Given the description of an element on the screen output the (x, y) to click on. 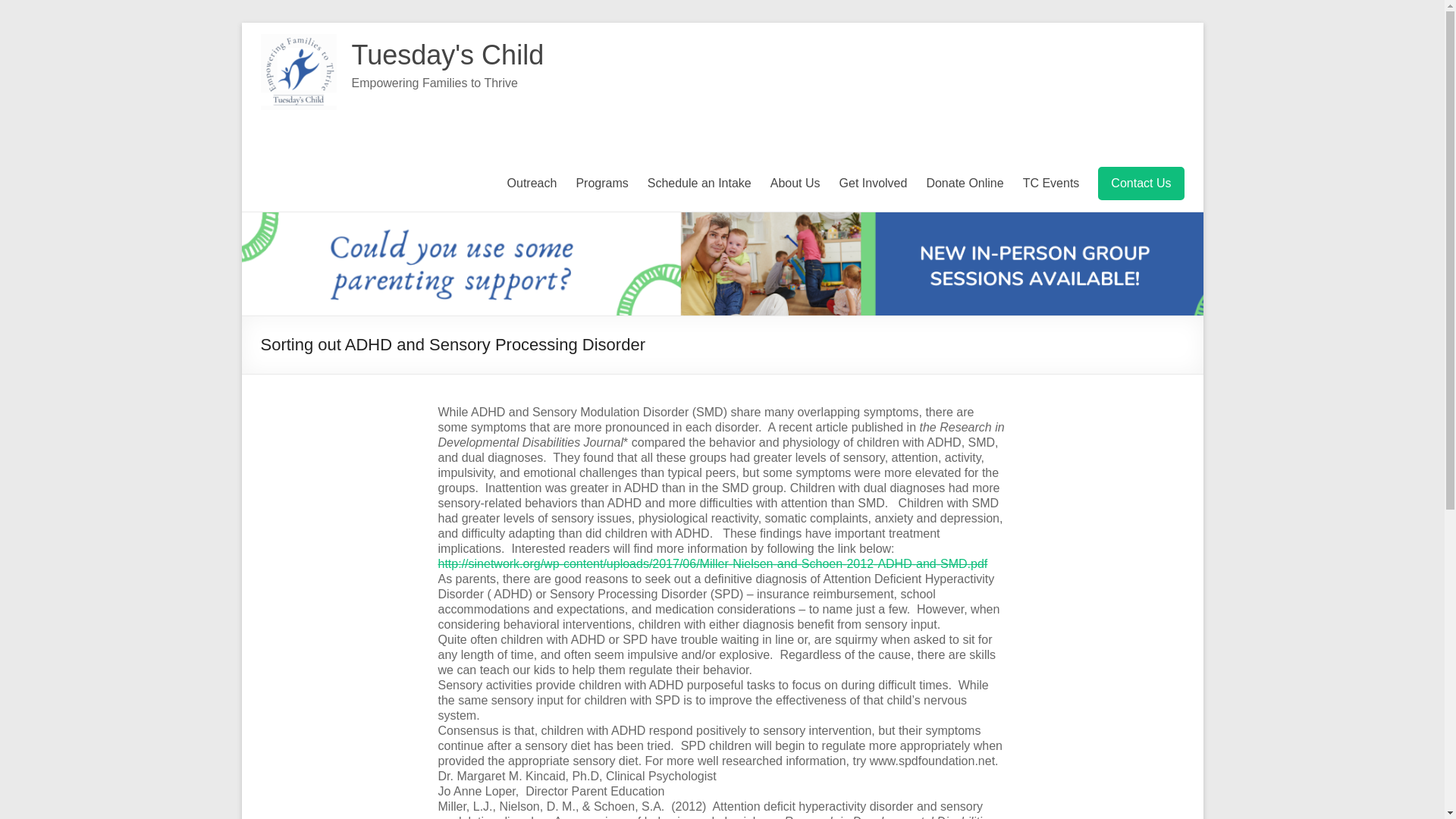
Get Involved (873, 182)
Schedule an Intake (699, 182)
Outreach (531, 182)
Tuesday's Child (448, 54)
Tuesday's Child (448, 54)
TC Events (1051, 182)
About Us (795, 182)
Programs (601, 182)
Donate Online (964, 182)
